Given the description of an element on the screen output the (x, y) to click on. 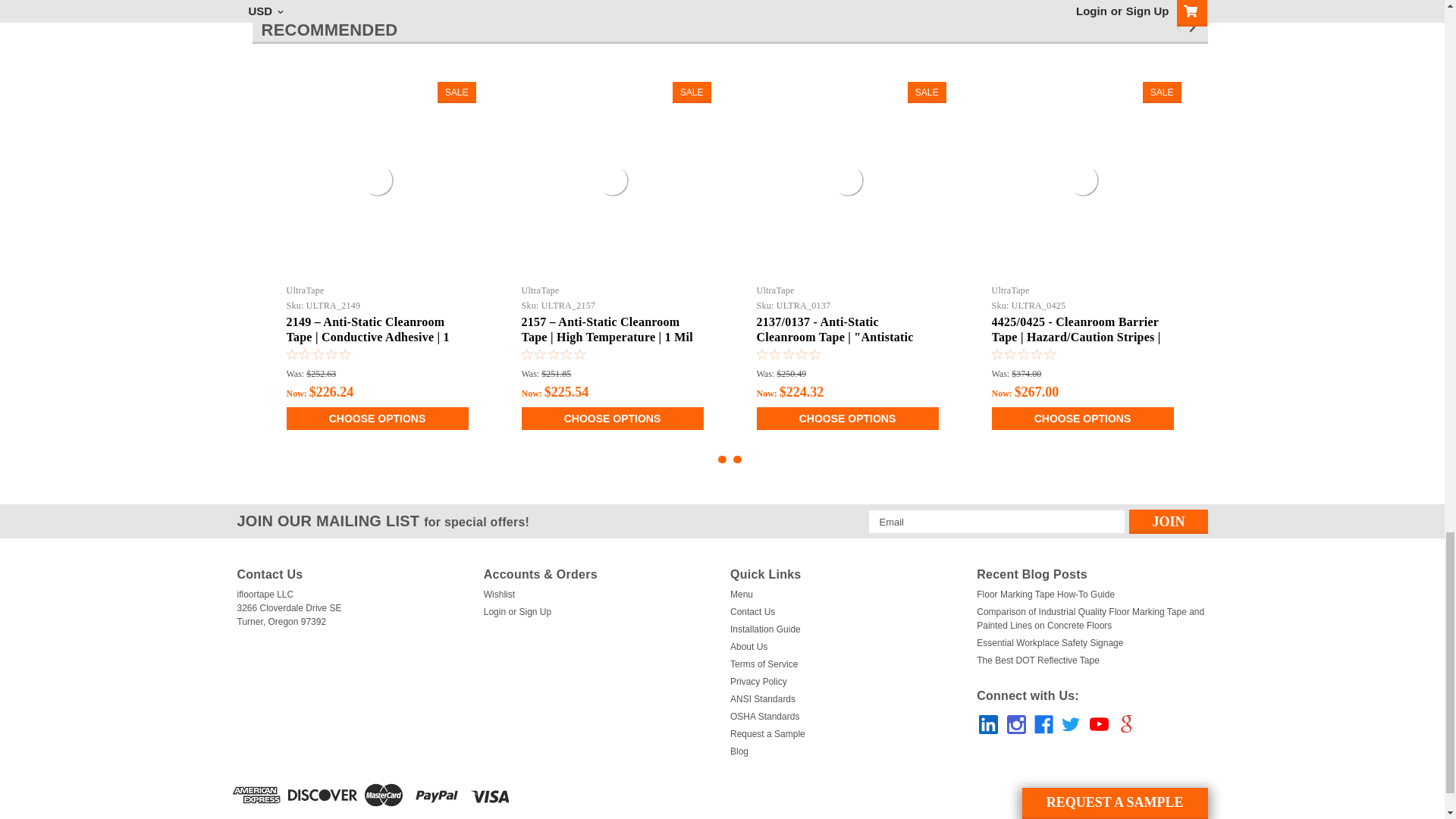
Join (1168, 521)
